Given the description of an element on the screen output the (x, y) to click on. 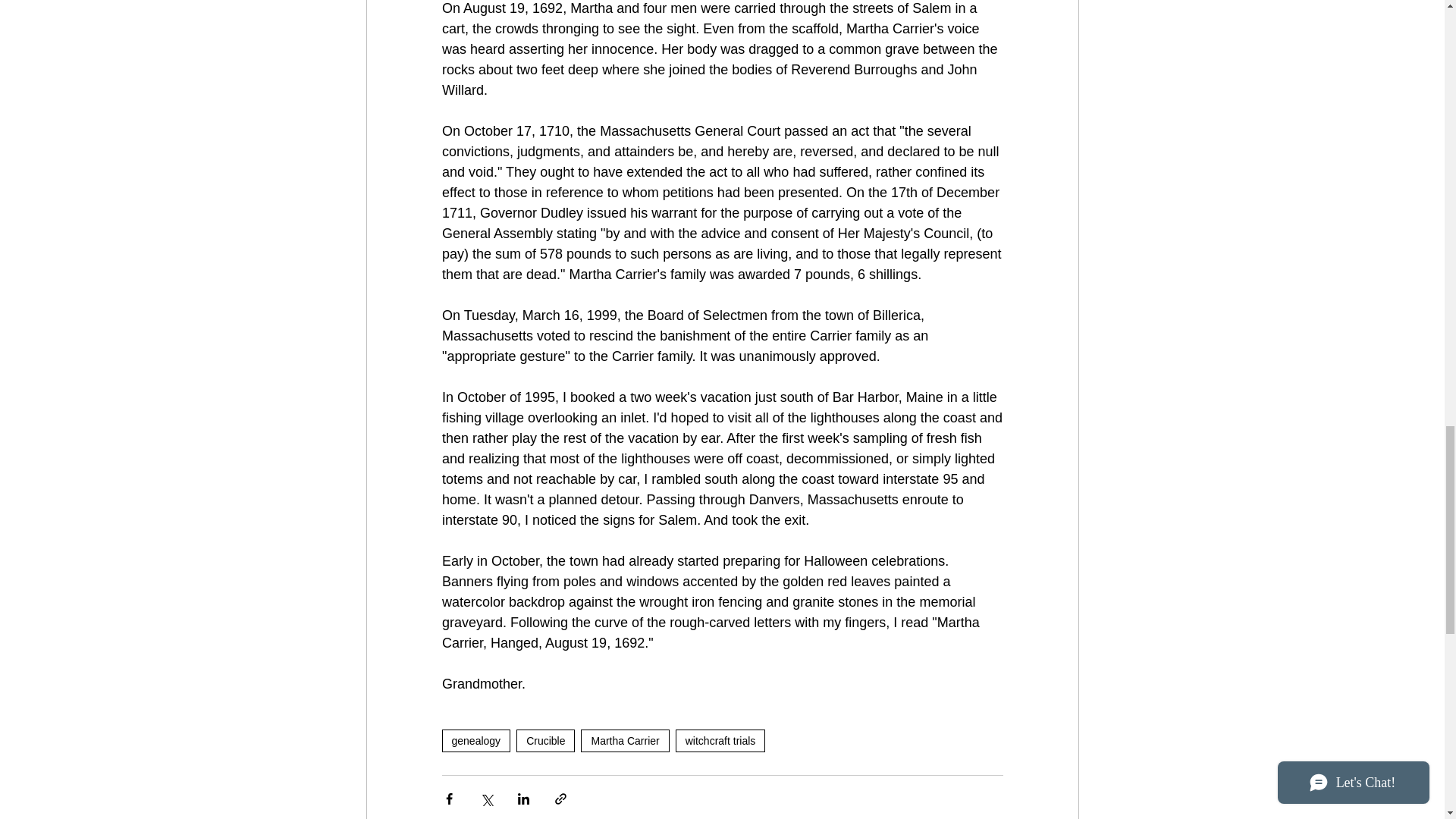
Crucible (545, 740)
Martha Carrier (624, 740)
witchcraft trials (720, 740)
genealogy (476, 740)
